Given the description of an element on the screen output the (x, y) to click on. 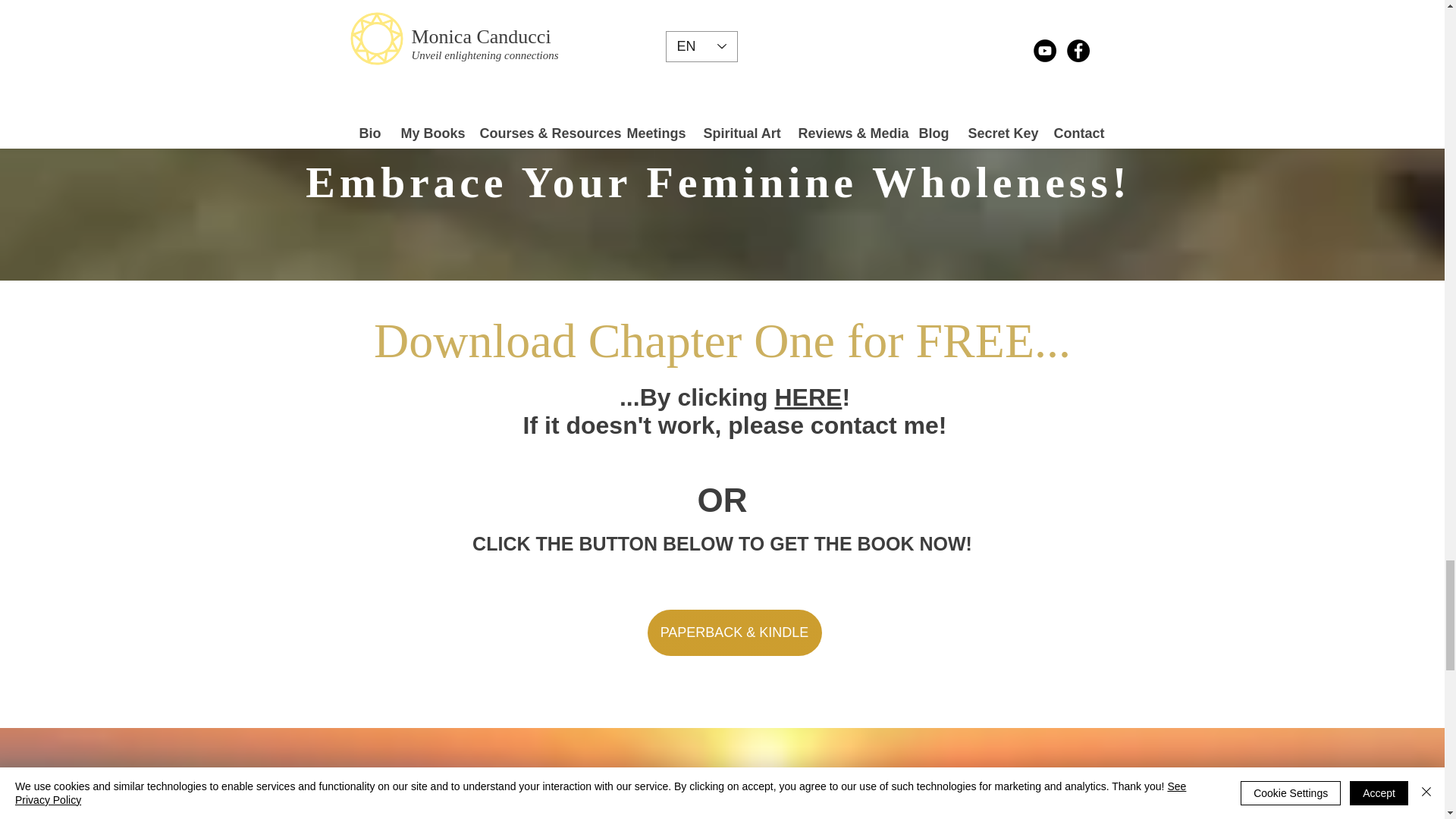
HERE (807, 397)
